Given the description of an element on the screen output the (x, y) to click on. 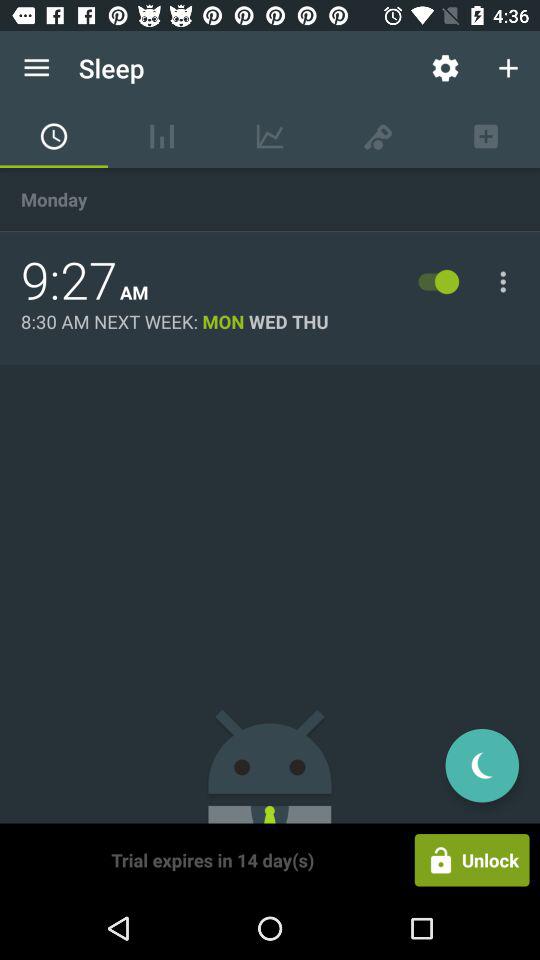
turn on the icon next to the sleep icon (444, 67)
